Given the description of an element on the screen output the (x, y) to click on. 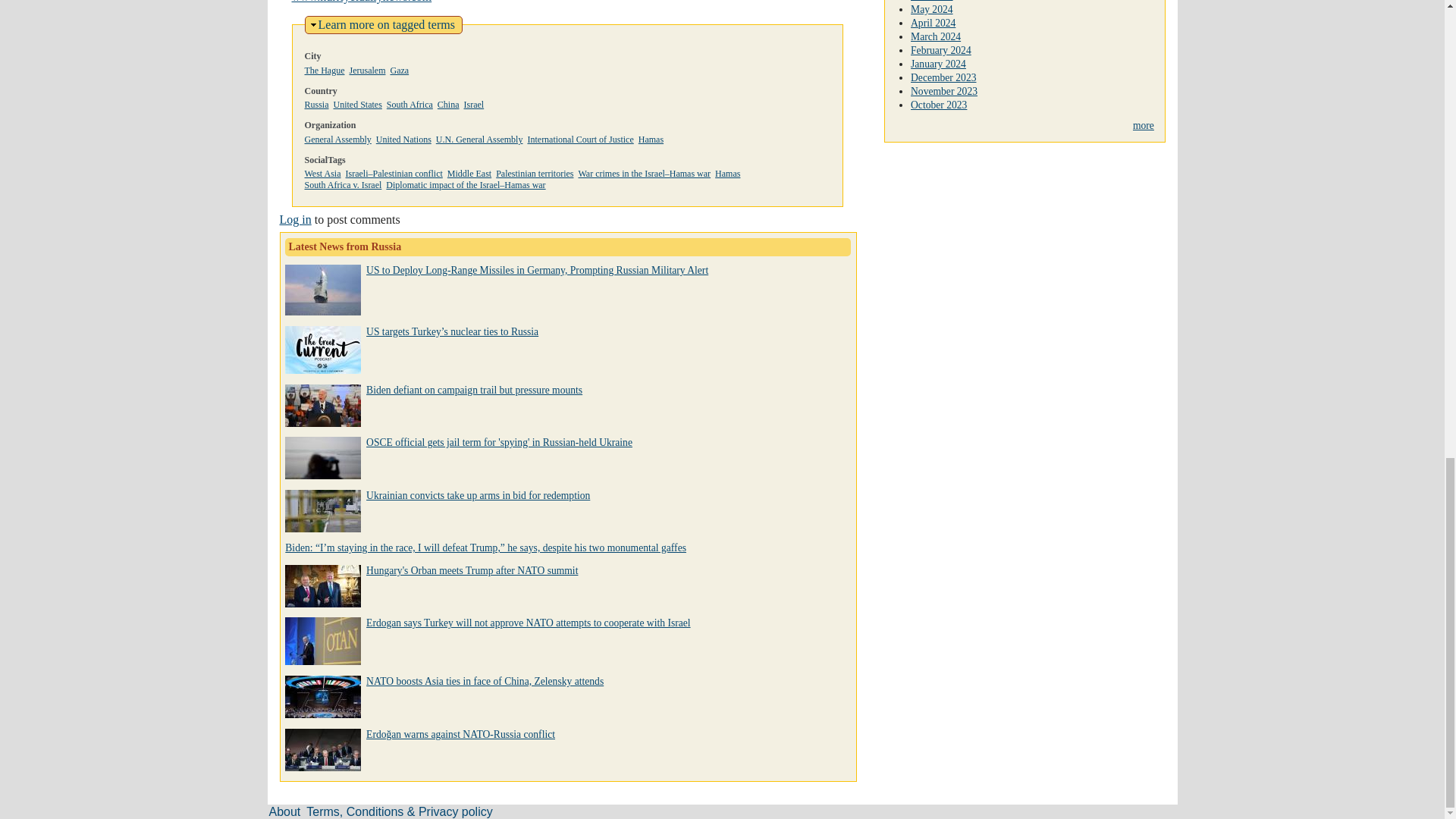
United Nations (402, 139)
Palestinian territories (534, 173)
U.N. General Assembly (386, 24)
Gaza (478, 139)
Russia (399, 70)
Middle East (316, 104)
South Africa (469, 173)
China (409, 104)
Hamas (449, 104)
United States (726, 173)
Israel (357, 104)
International Court of Justice (474, 104)
Hamas (580, 139)
West Asia (651, 139)
